Given the description of an element on the screen output the (x, y) to click on. 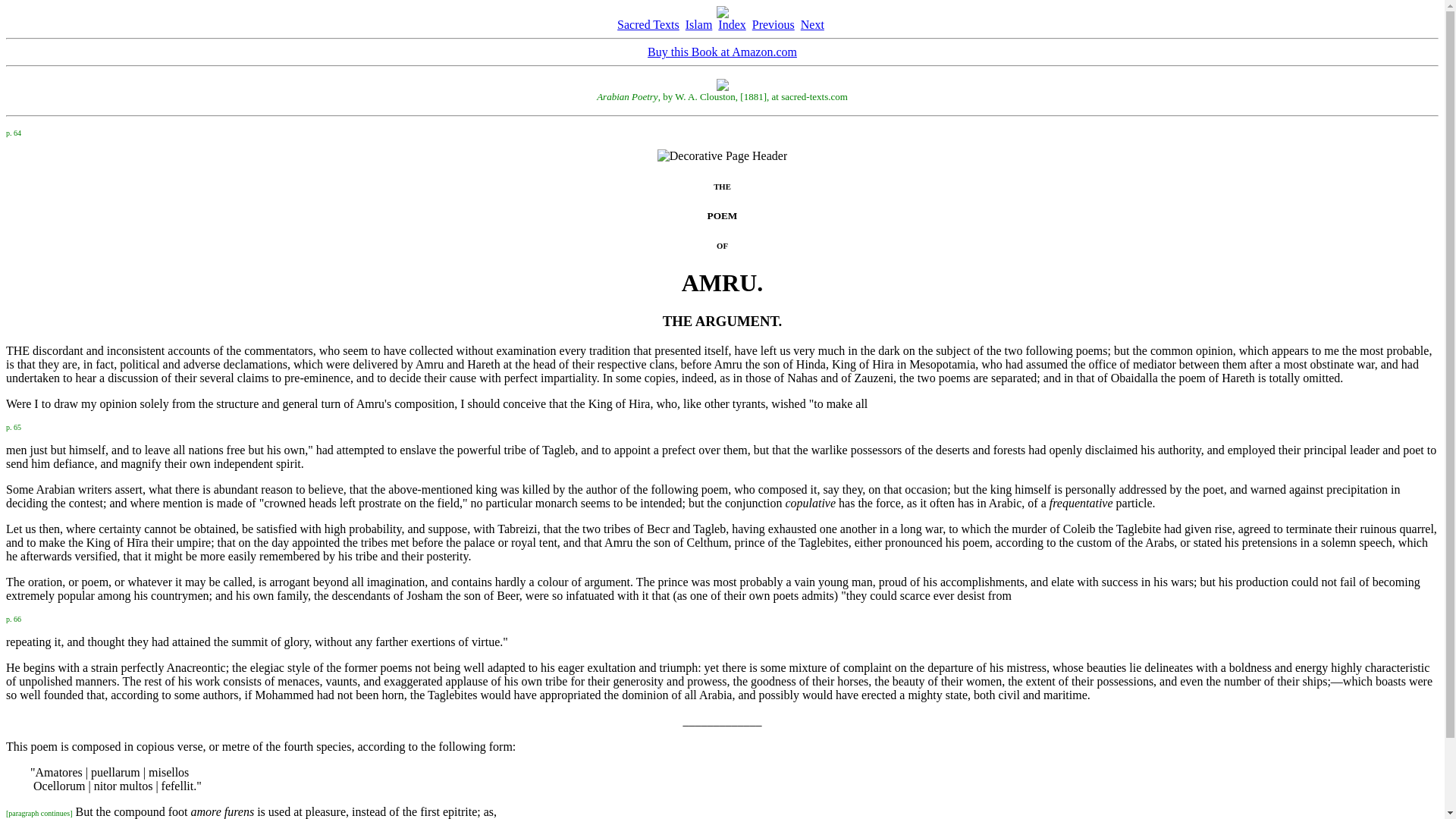
p. 66 (13, 617)
Sacred Texts (648, 24)
Islam (699, 24)
Buy this Book at Amazon.com (721, 51)
Index (731, 24)
p. 65 (13, 425)
Previous (773, 24)
Next (812, 24)
p. 64 (13, 131)
